Given the description of an element on the screen output the (x, y) to click on. 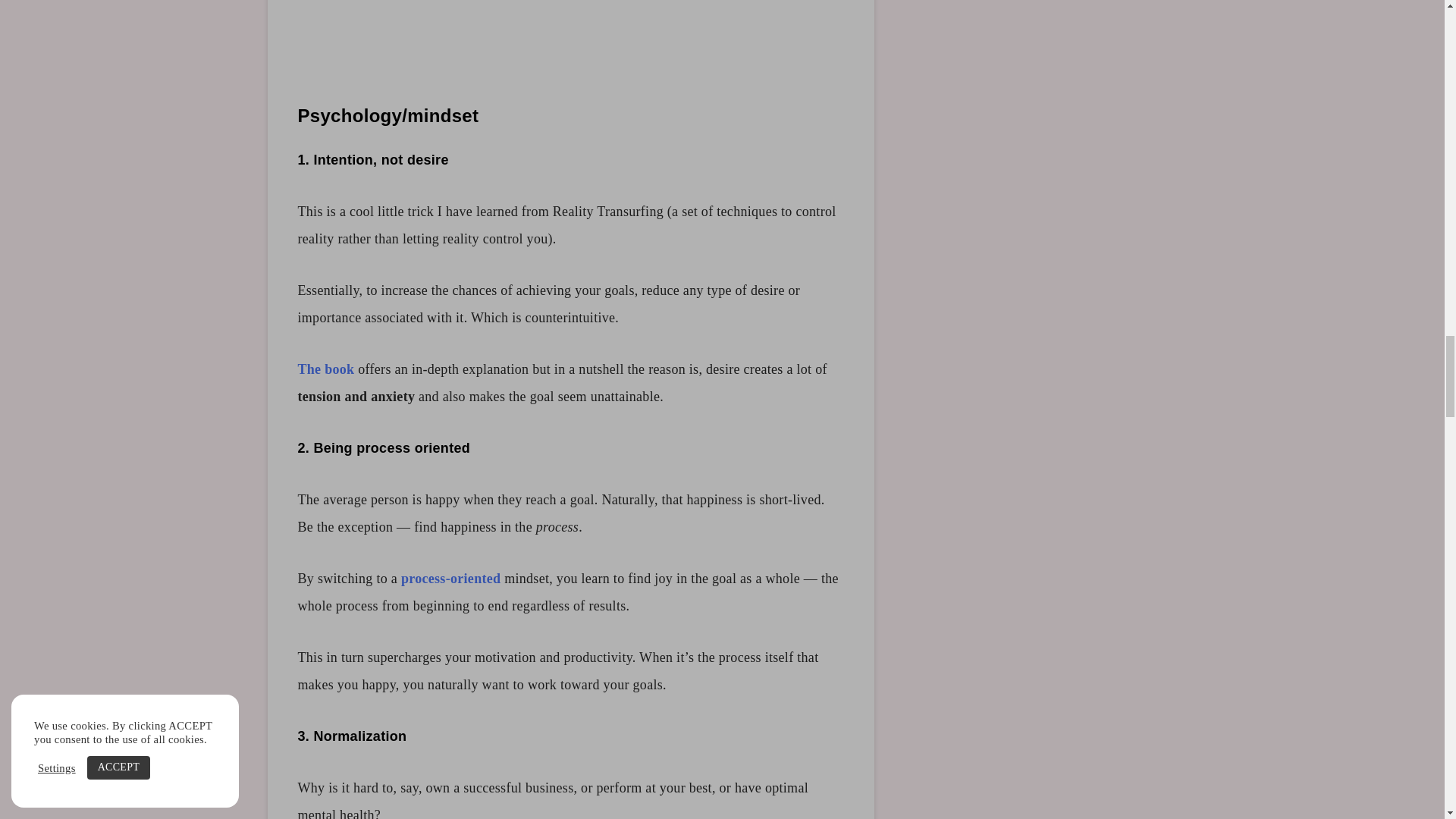
The book (325, 368)
process-oriented (450, 578)
